Given the description of an element on the screen output the (x, y) to click on. 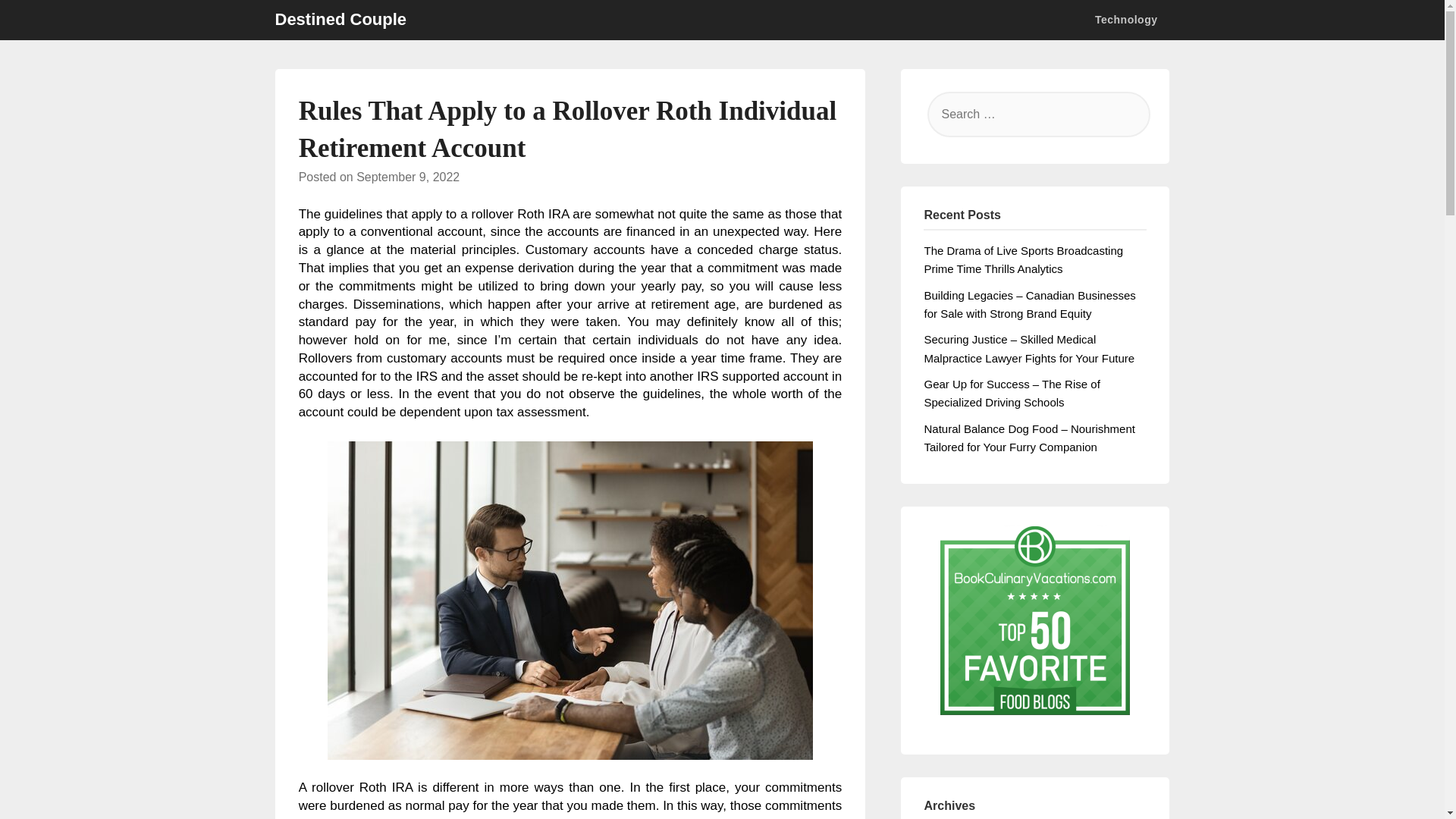
Search (38, 22)
Destined Couple (340, 19)
September 9, 2022 (408, 176)
Technology (1132, 20)
